Given the description of an element on the screen output the (x, y) to click on. 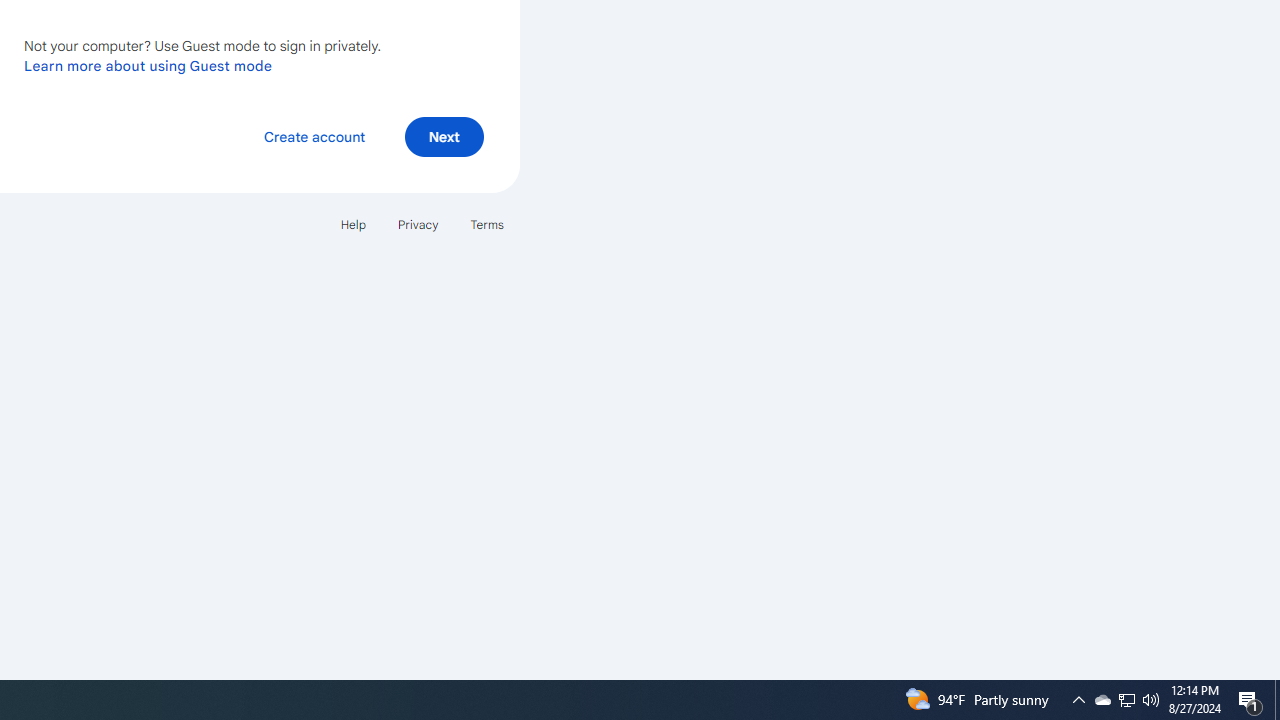
Learn more about using Guest mode (148, 65)
Create account (314, 135)
